Given the description of an element on the screen output the (x, y) to click on. 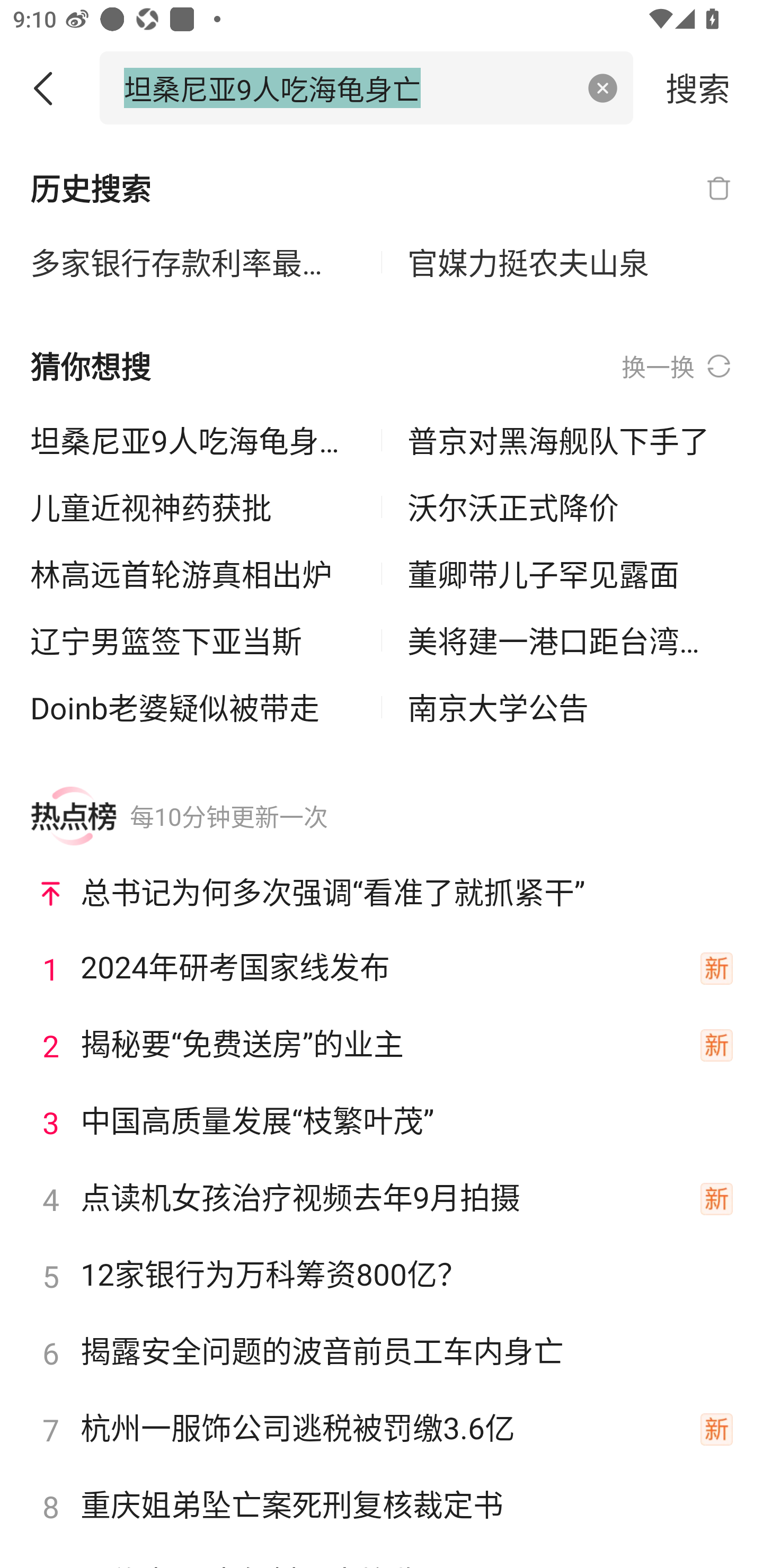
返回 (49, 87)
搜索 (698, 87)
坦桑尼亚9人吃海龟身亡 (347, 87)
清空 (602, 88)
多家银行存款利率最高达10% (193, 262)
官媒力挺农夫山泉 (569, 262)
换一换 (676, 366)
坦桑尼亚9人吃海龟身亡 (193, 439)
普京对黑海舰队下手了 (569, 439)
儿童近视神药获批 (193, 506)
沃尔沃正式降价 (569, 506)
林高远首轮游真相出炉 (193, 573)
董卿带儿子罕见露面 (569, 573)
辽宁男篮签下亚当斯 (193, 640)
美将建一港口距台湾不到200公里 (569, 640)
Doinb老婆疑似被带走 (193, 707)
南京大学公告 (569, 707)
